Given the description of an element on the screen output the (x, y) to click on. 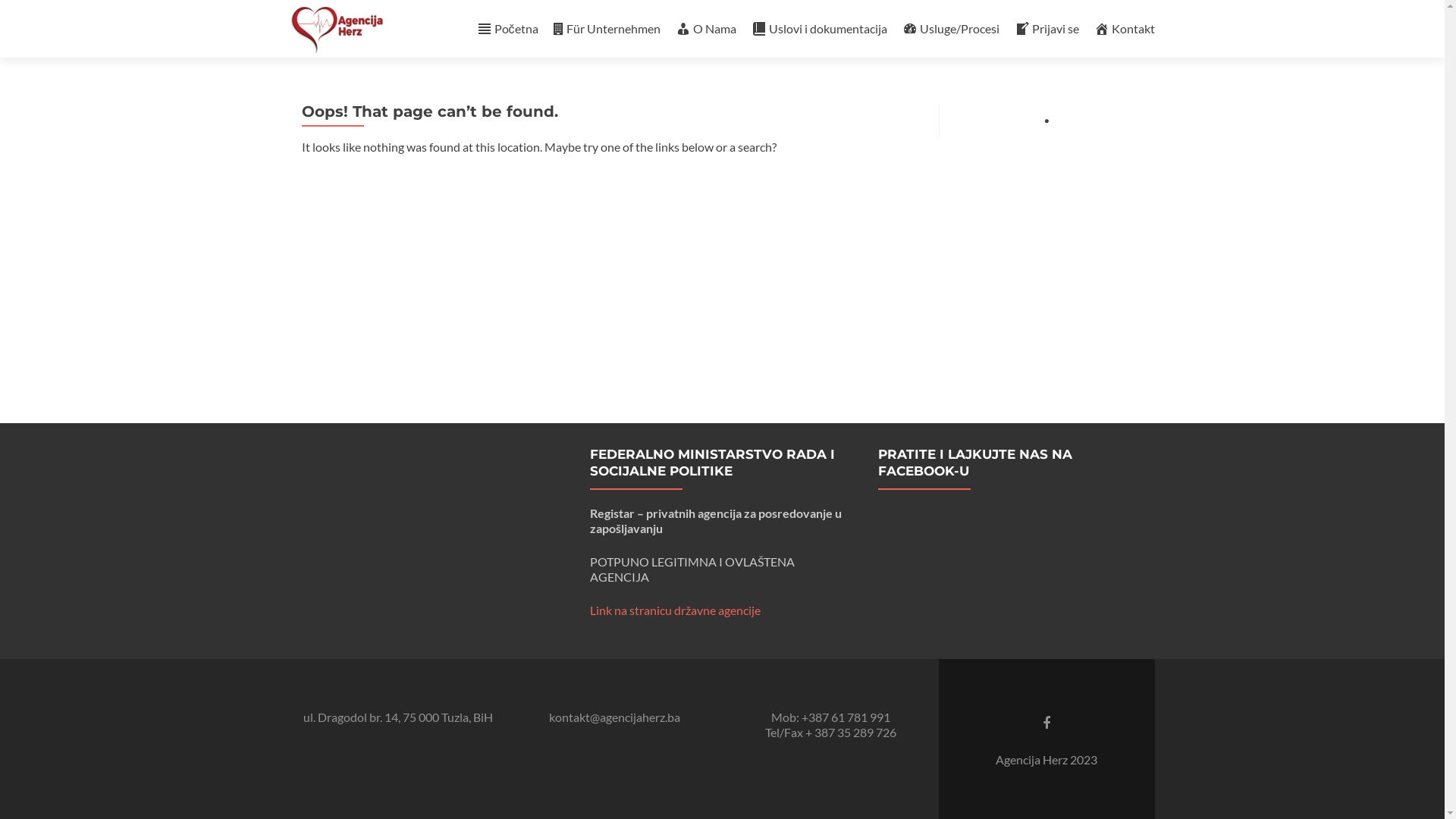
Uslovi i dokumentacija Element type: text (818, 28)
Kontakt Element type: text (1123, 28)
Prijavi se Element type: text (1046, 28)
kontakt@agencijaherz.ba Element type: text (614, 716)
+ 387 35 289 726 Element type: text (850, 731)
+387 61 781 991 Element type: text (844, 716)
Facebook link Element type: text (1046, 721)
Usluge/Procesi Element type: text (950, 28)
O Nama Element type: text (704, 28)
